Given the description of an element on the screen output the (x, y) to click on. 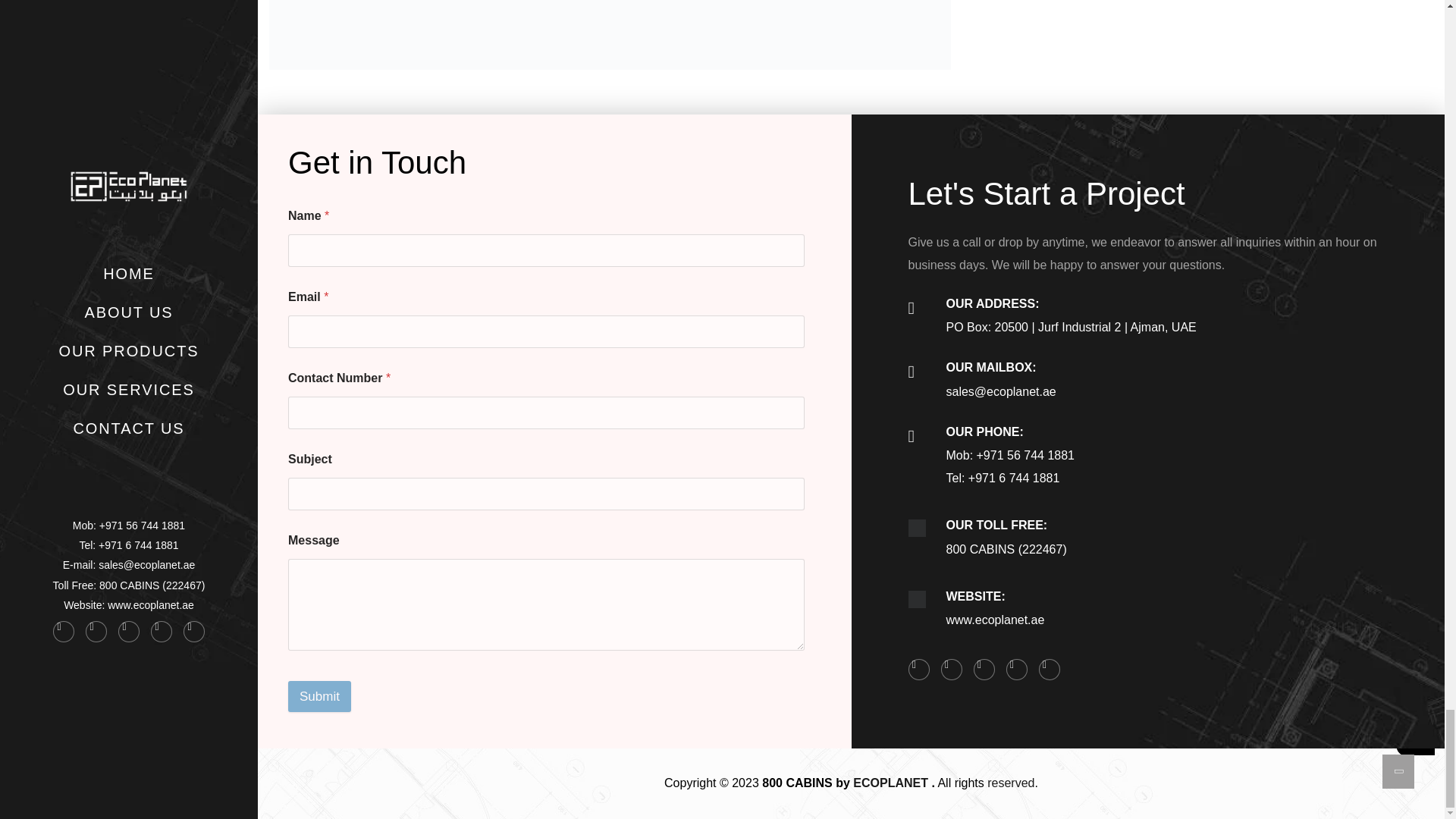
toll-free (917, 528)
